Given the description of an element on the screen output the (x, y) to click on. 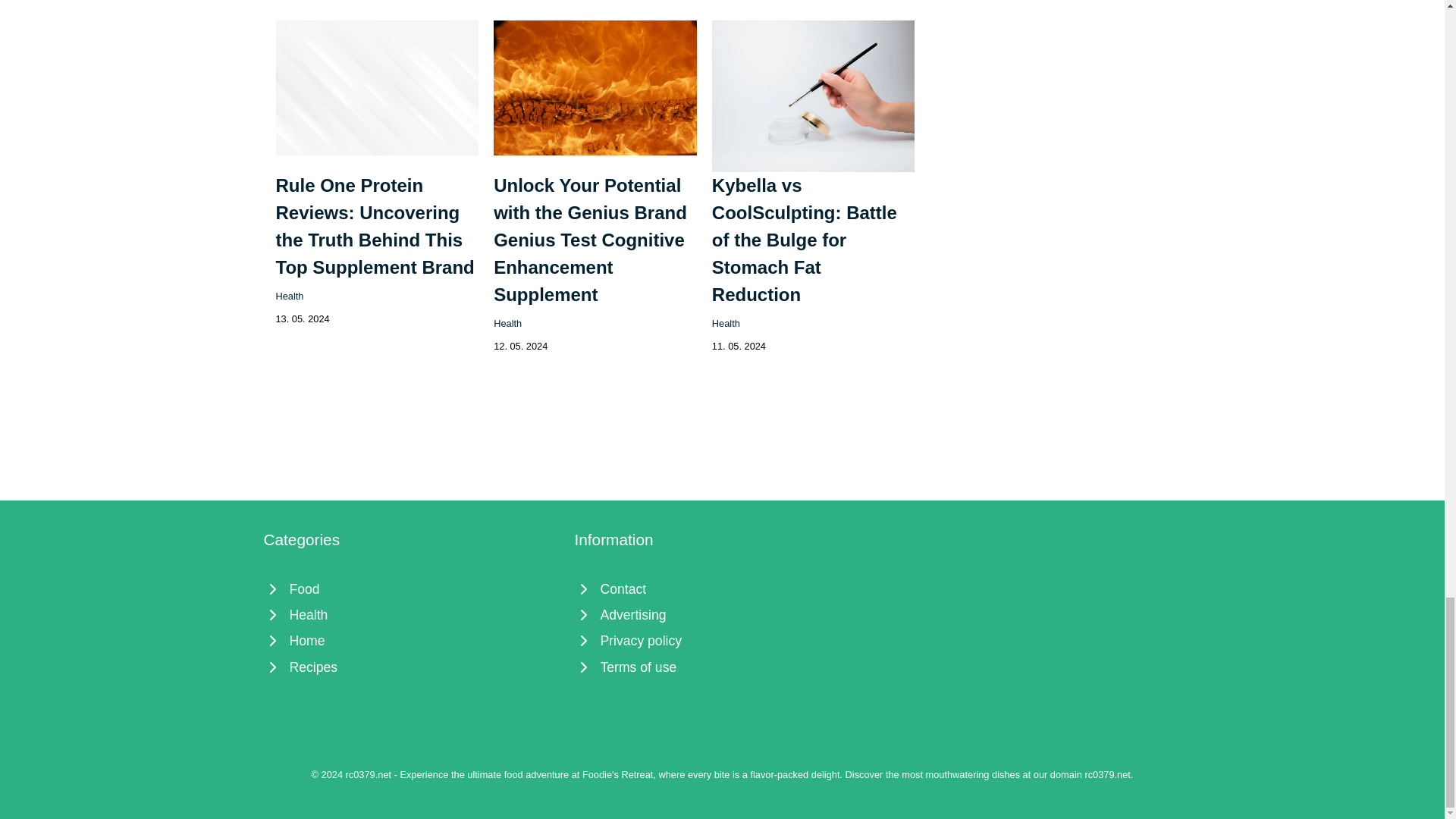
Home (411, 640)
Recipes (411, 667)
Food (411, 588)
Contact (722, 588)
Health (411, 614)
Terms of use (722, 667)
Privacy policy (722, 640)
Health (290, 296)
Health (507, 323)
Health (725, 323)
Advertising (722, 614)
